Given the description of an element on the screen output the (x, y) to click on. 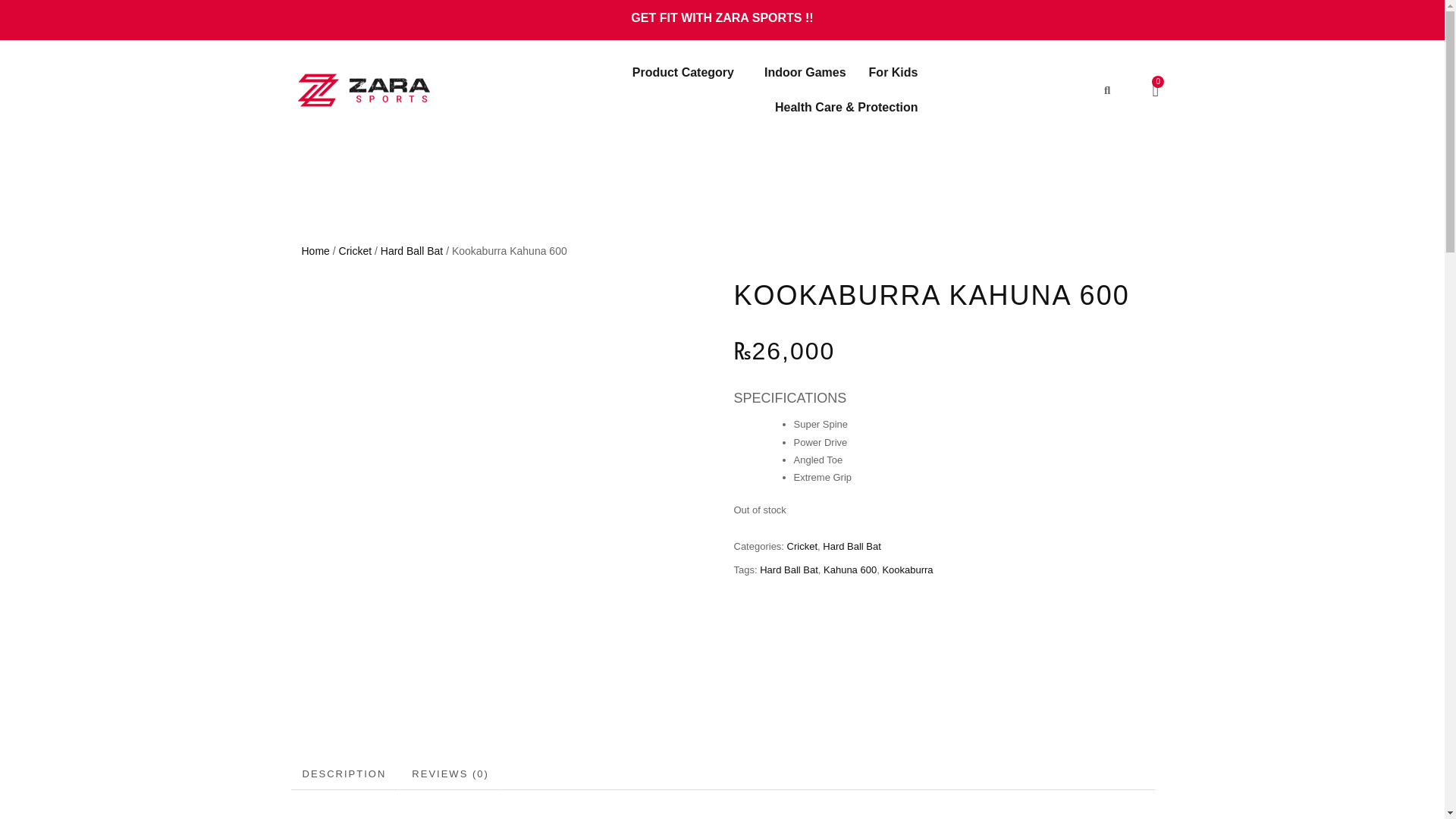
Product Category (686, 72)
For Kids (893, 72)
Indoor Games (804, 72)
